Given the description of an element on the screen output the (x, y) to click on. 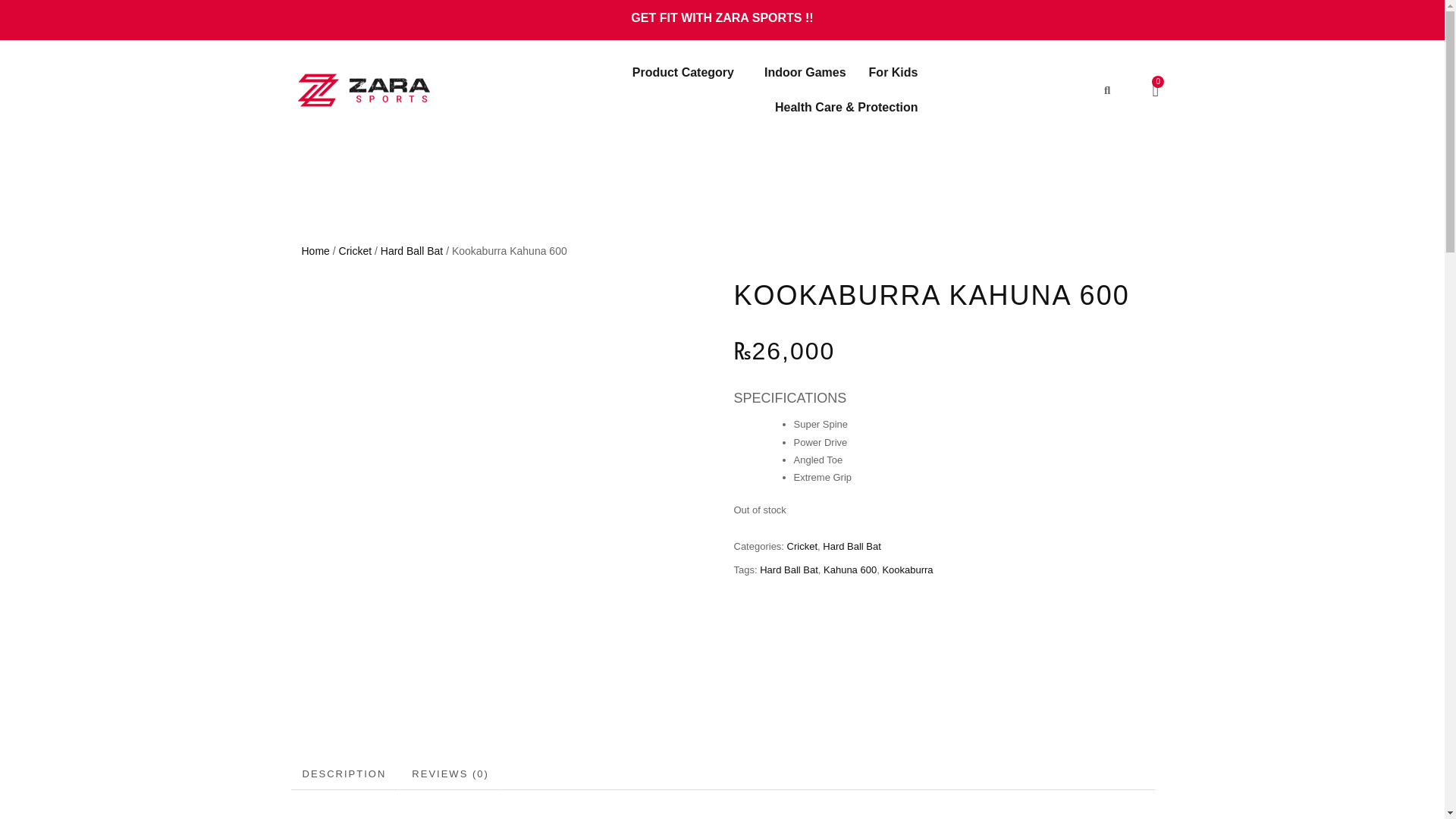
Product Category (686, 72)
For Kids (893, 72)
Indoor Games (804, 72)
